Given the description of an element on the screen output the (x, y) to click on. 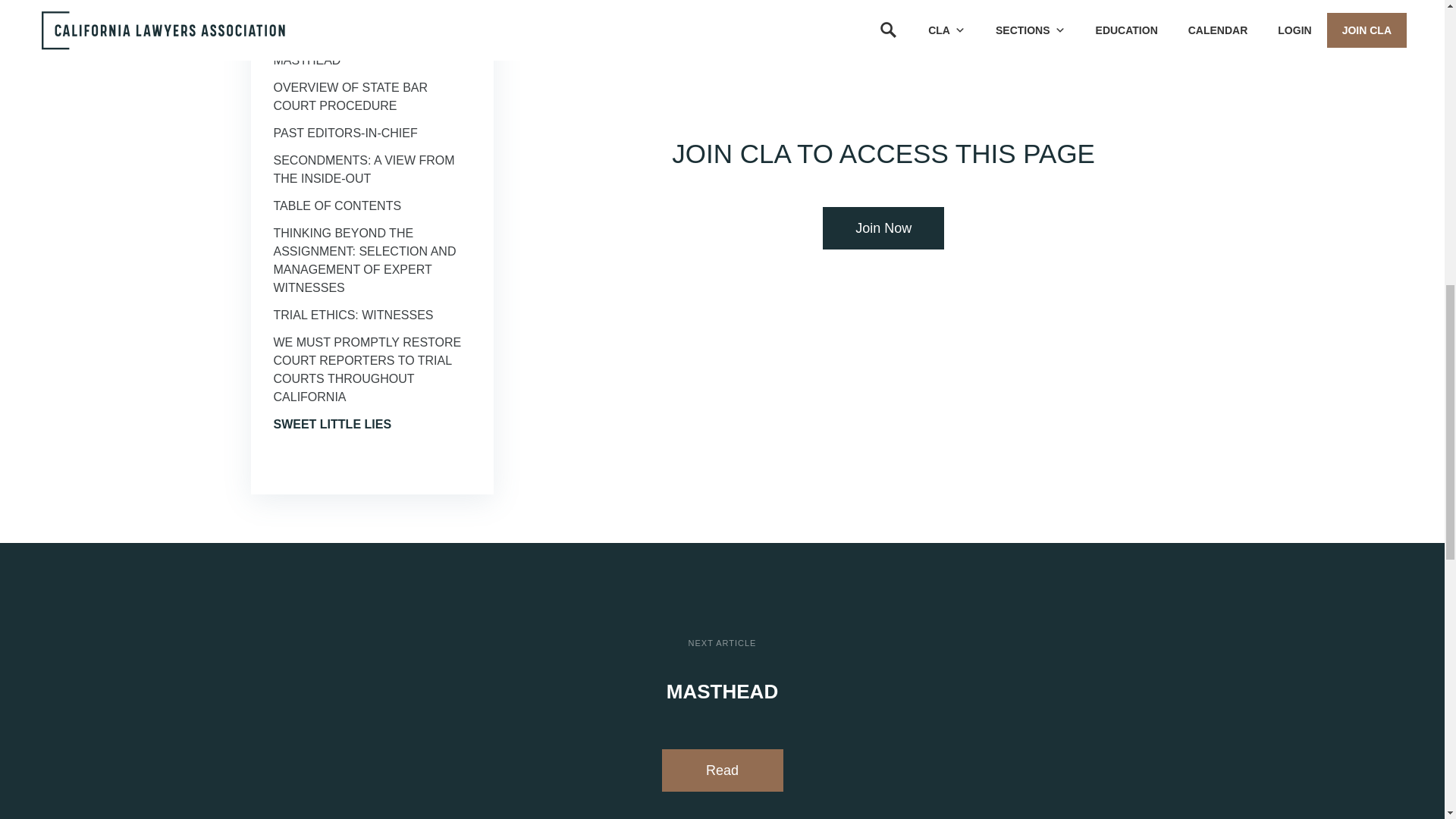
Overview of State Bar Court Procedure (350, 96)
Table of Contents (337, 205)
Sweet Little Lies (332, 423)
Masthead (306, 60)
Secondments: a View from the Inside-Out (363, 169)
Read: Masthead (722, 770)
Trial Ethics: Witnesses (352, 314)
